Given the description of an element on the screen output the (x, y) to click on. 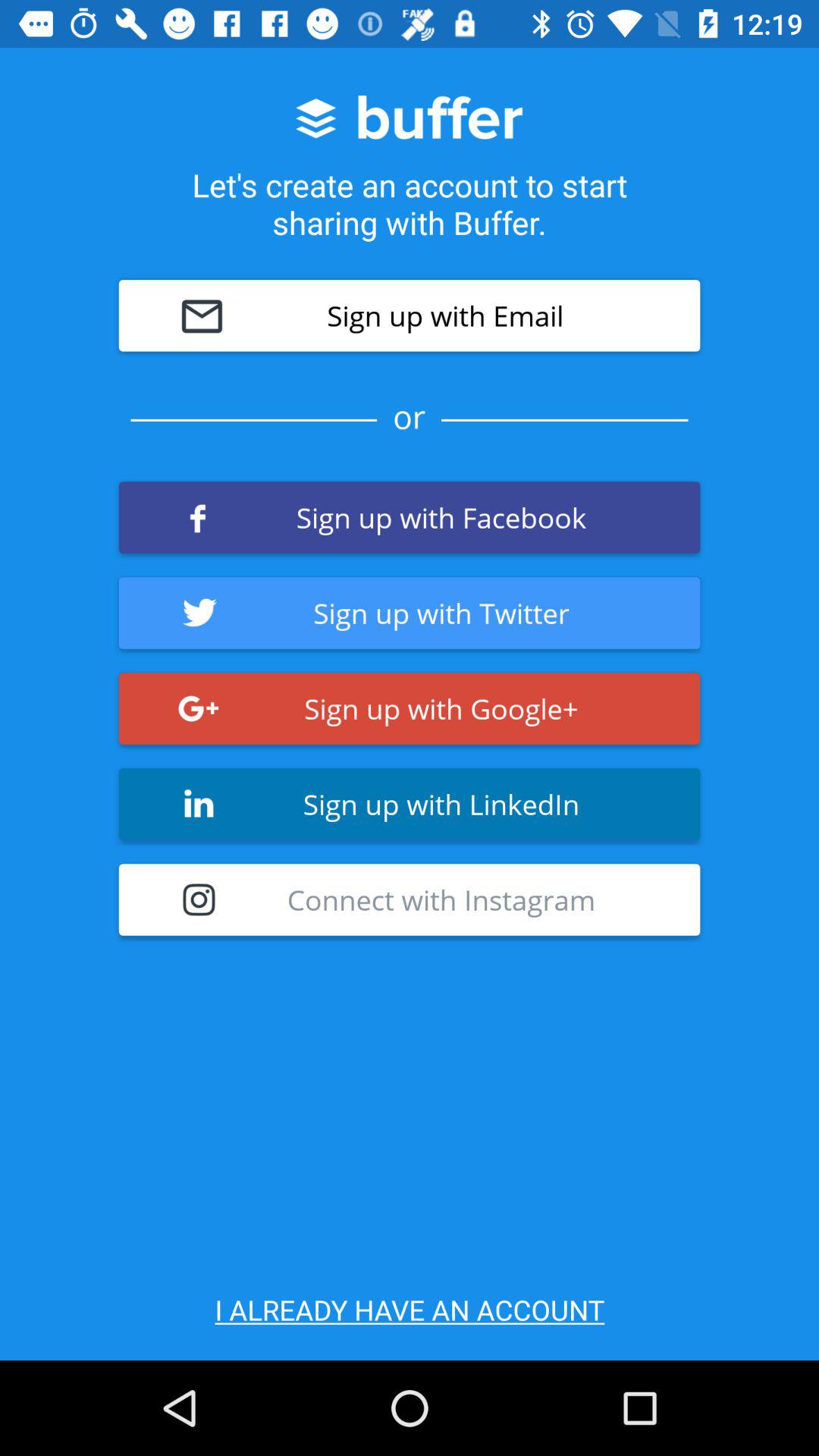
click i already have icon (409, 1309)
